Given the description of an element on the screen output the (x, y) to click on. 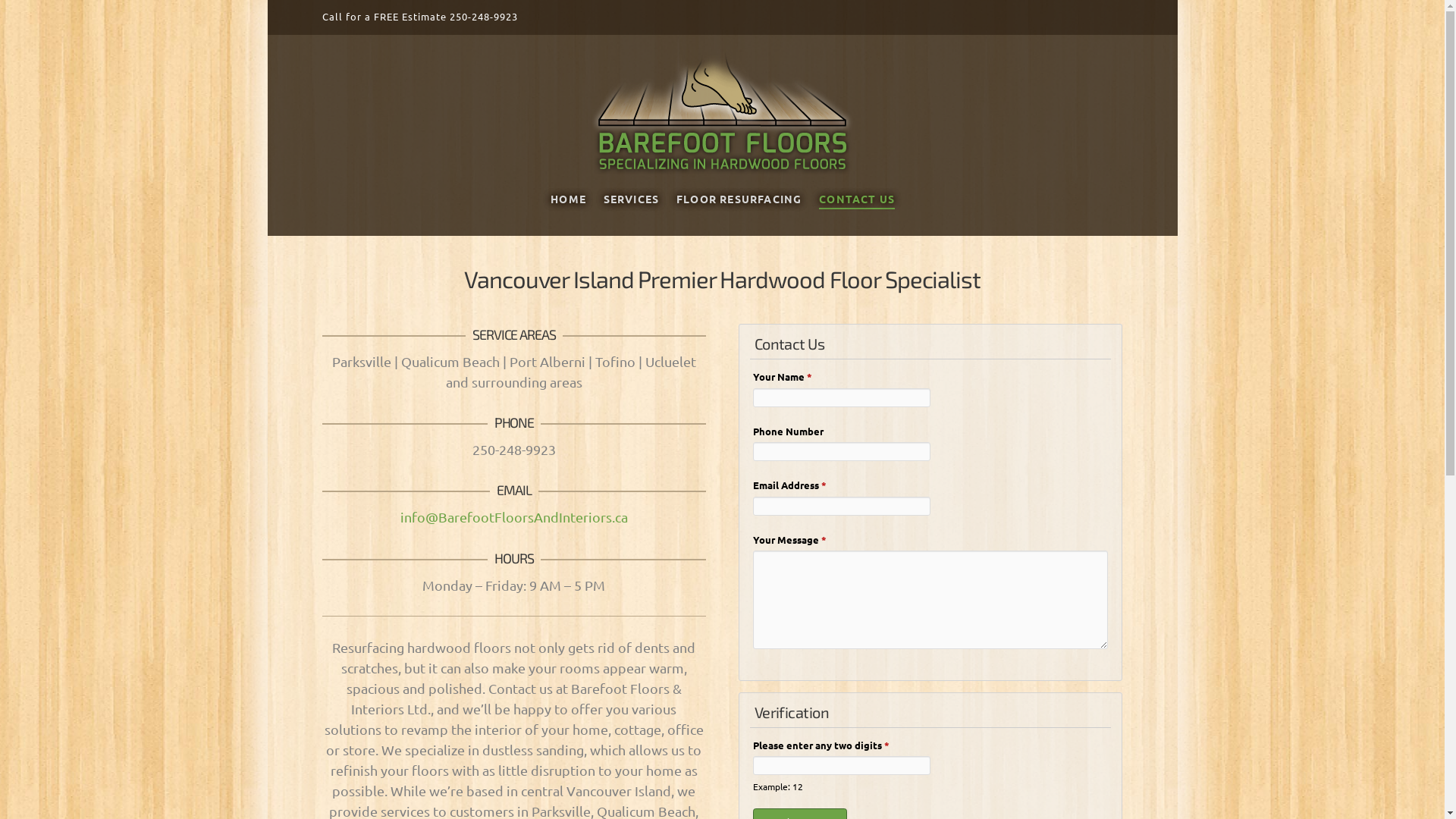
CONTACT US Element type: text (856, 210)
250-248-9923 Element type: text (482, 15)
FLOOR RESURFACING Element type: text (738, 210)
HOME Element type: text (567, 210)
Specializing in Hardwood Floors Element type: hover (722, 110)
SERVICES Element type: text (630, 210)
info@BarefootFloorsAndInteriors.ca Element type: text (513, 516)
